Given the description of an element on the screen output the (x, y) to click on. 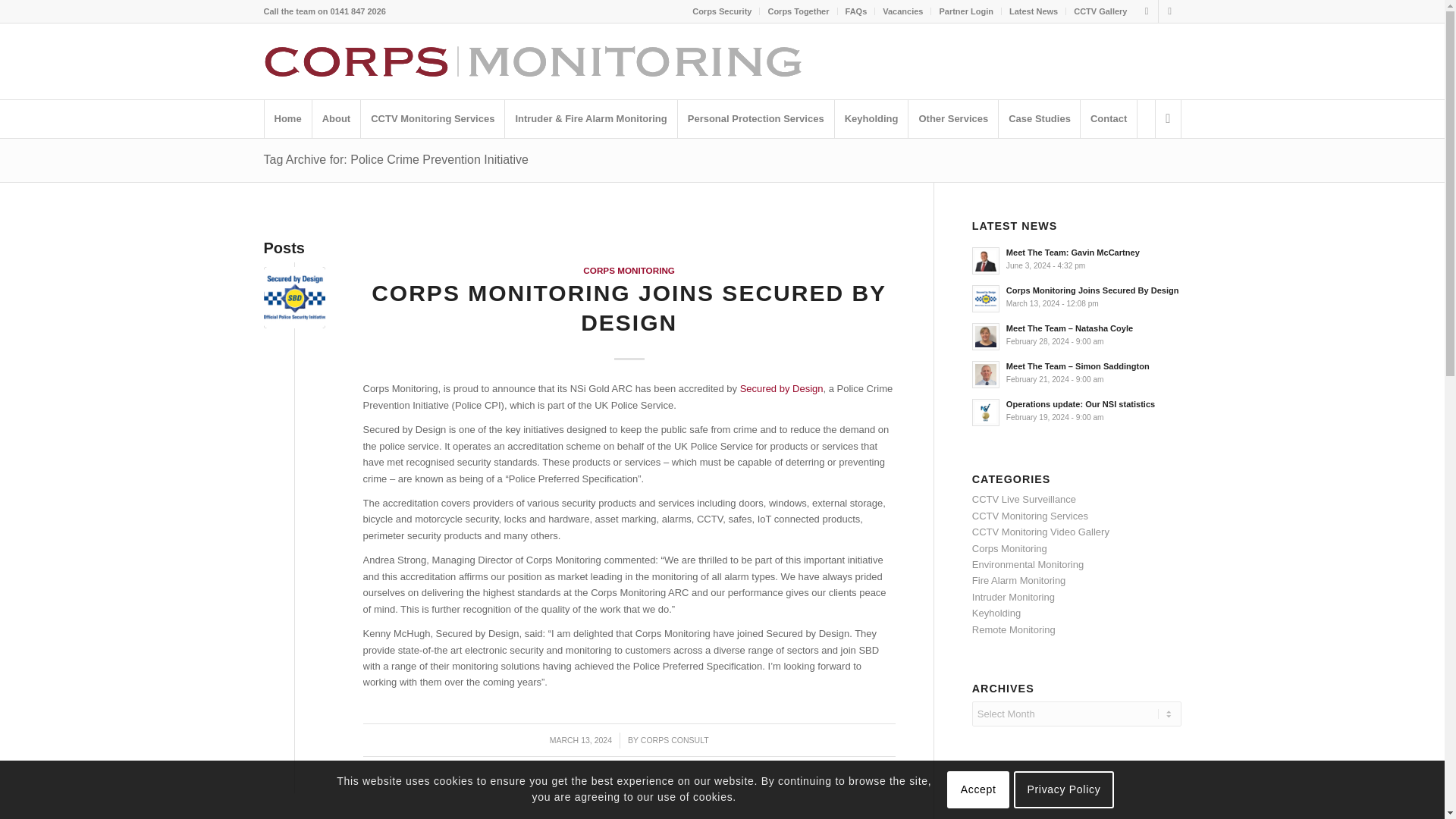
Partner Login (965, 11)
Corps Together (797, 11)
Permanent Link: Corps Monitoring Joins Secured By Design (628, 307)
0141 847 2026 (357, 10)
Corps Security (722, 11)
Personal Protection Services (755, 118)
Other Services (952, 118)
About (336, 118)
Case Studies (1038, 118)
FAQs (856, 11)
Read: Corps Monitoring Joins Secured By Design (1092, 289)
Read: Corps Monitoring Joins Secured By Design (985, 298)
Keyholding (871, 118)
Tag Archive for: Police Crime Prevention Initiative (395, 159)
